Given the description of an element on the screen output the (x, y) to click on. 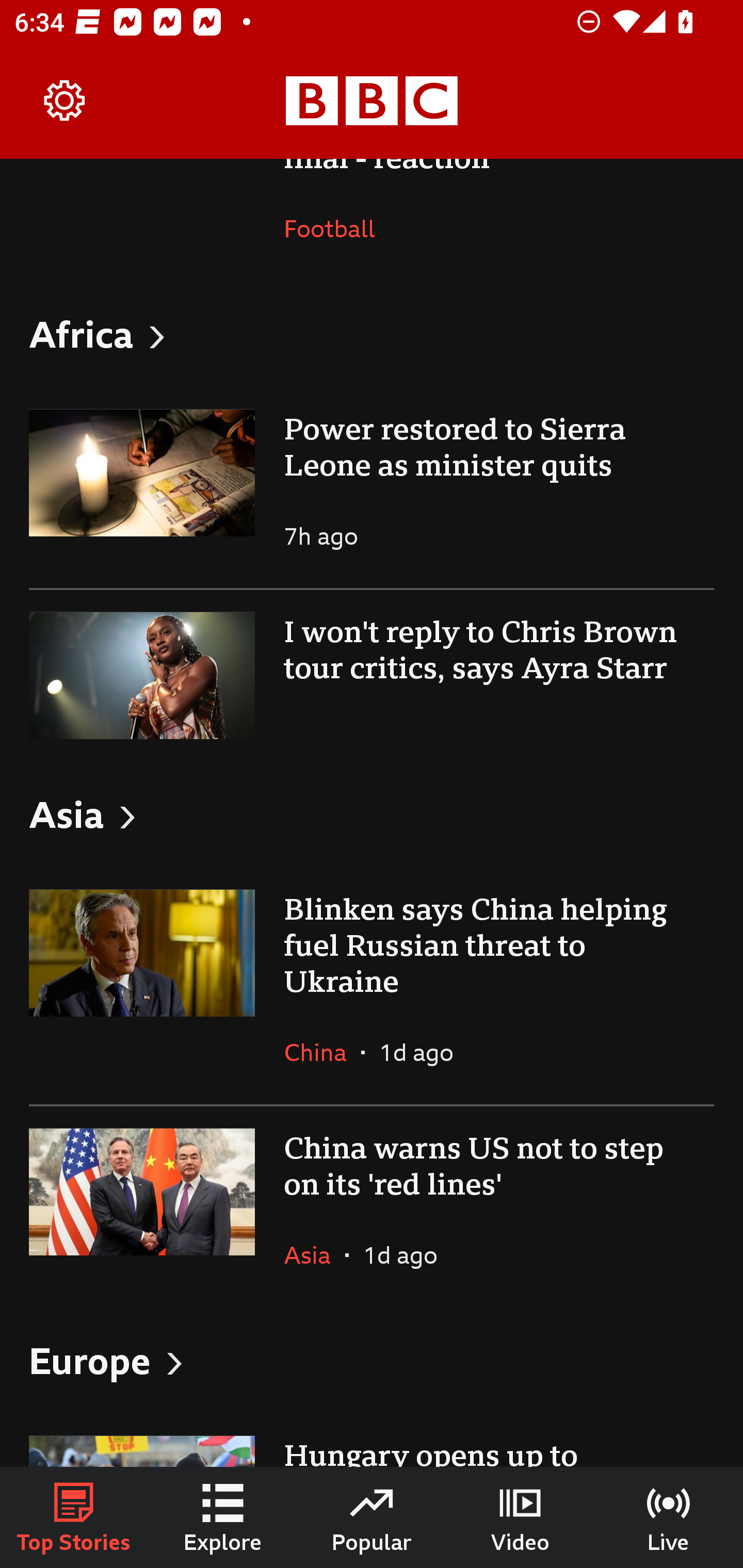
Settings (64, 100)
Football In the section Football (336, 227)
Africa, Heading Africa    (371, 333)
Asia, Heading Asia    (371, 813)
China In the section China (322, 1051)
Asia In the section Asia (314, 1254)
Europe, Heading Europe    (371, 1360)
Explore (222, 1517)
Popular (371, 1517)
Video (519, 1517)
Live (668, 1517)
